Given the description of an element on the screen output the (x, y) to click on. 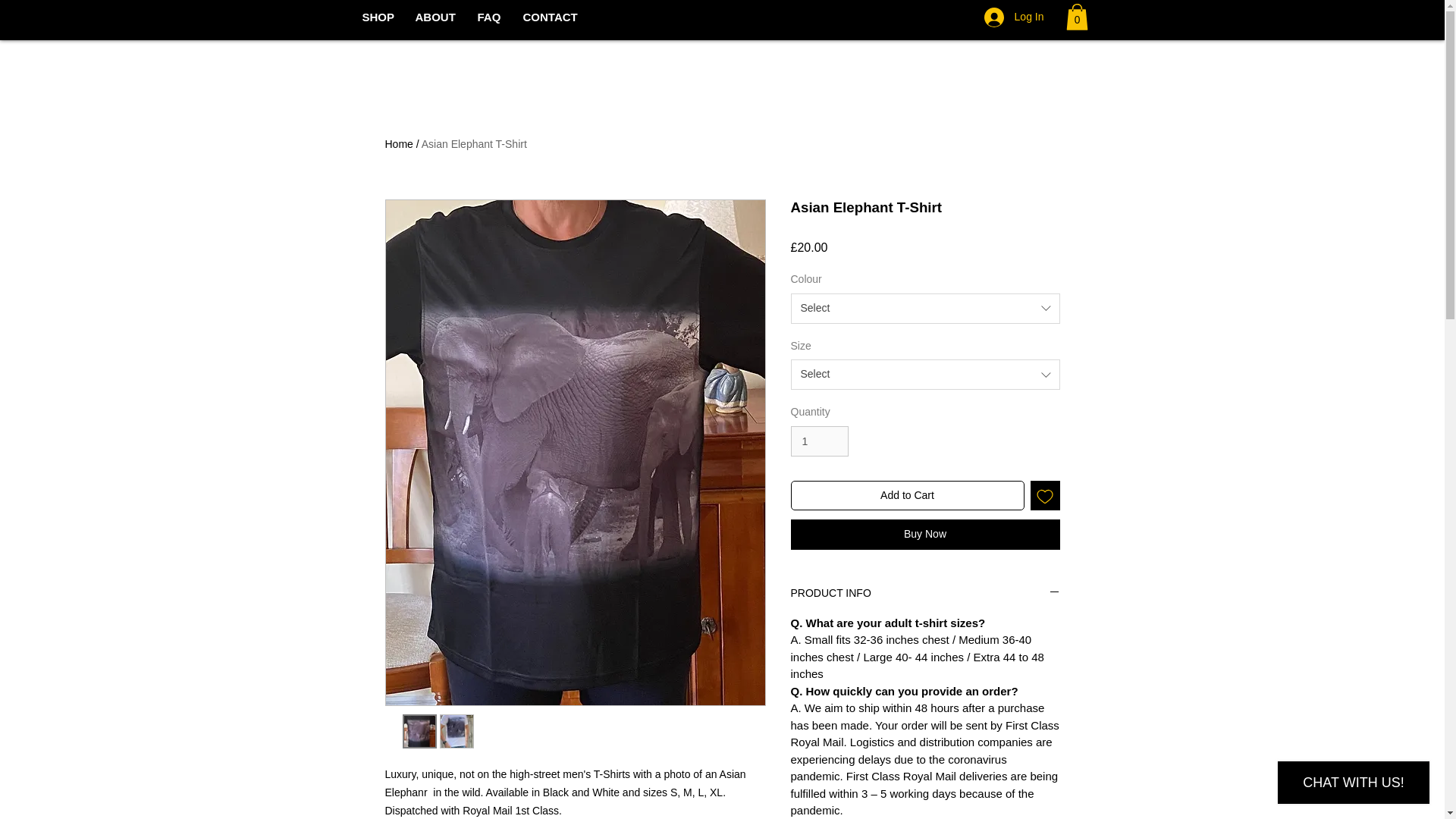
1 (818, 441)
Home (399, 143)
CONTACT (549, 16)
Asian Elephant T-Shirt (474, 143)
PRODUCT INFO (924, 593)
ABOUT (434, 16)
Add to Cart (906, 495)
Select (924, 374)
FAQ (488, 16)
Buy Now (924, 534)
